Given the description of an element on the screen output the (x, y) to click on. 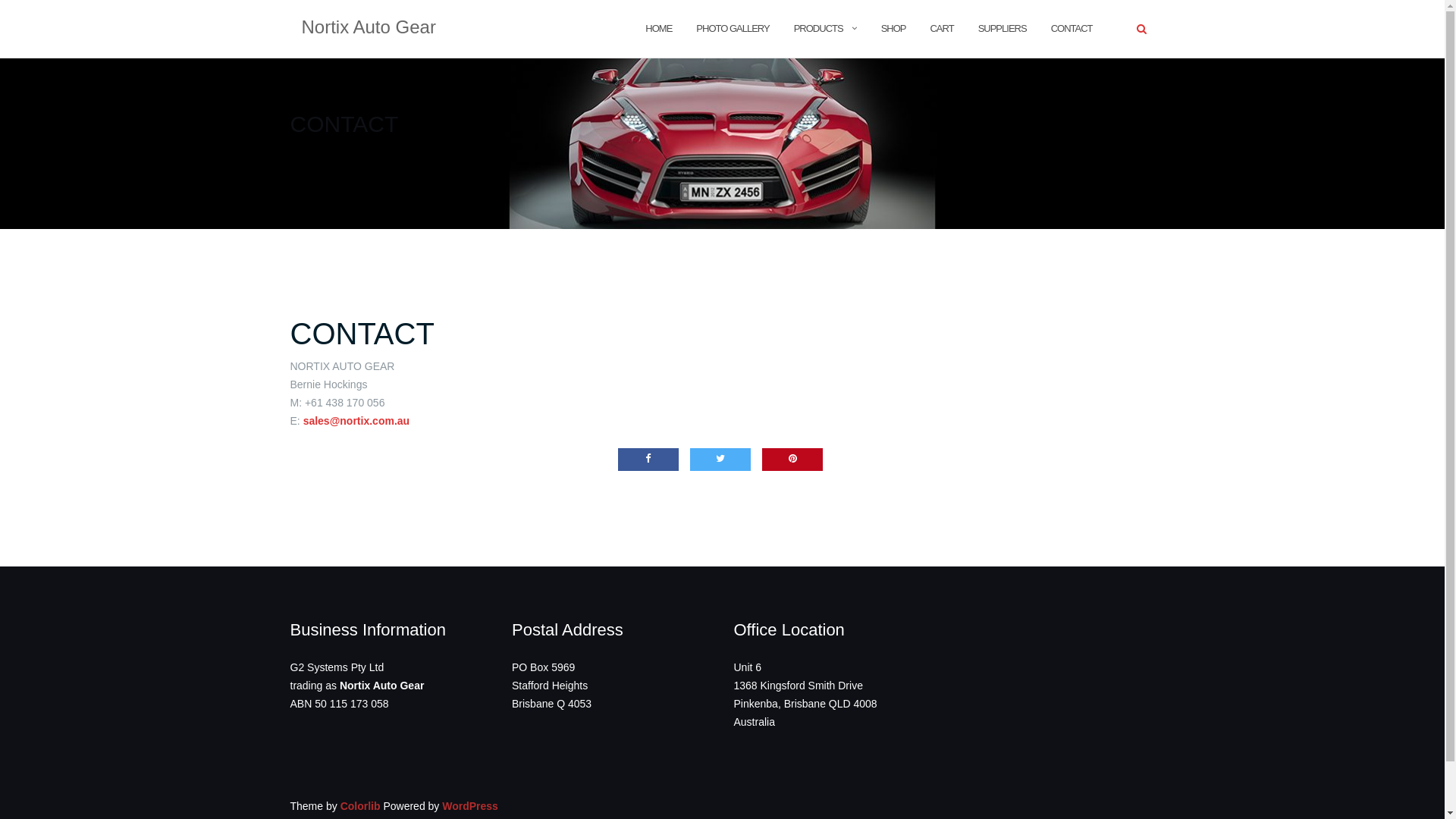
SHOP Element type: text (893, 28)
PRODUCTS Element type: text (818, 28)
HOME Element type: text (658, 28)
PHOTO GALLERY Element type: text (732, 28)
WordPress Element type: text (470, 806)
Colorlib Element type: text (360, 806)
CONTACT Element type: text (361, 333)
Nortix Auto Gear Element type: text (368, 28)
CONTACT Element type: text (1071, 28)
sales@nortix.com.au Element type: text (356, 420)
Skip to content Element type: text (0, 0)
SUPPLIERS Element type: text (1002, 28)
CART Element type: text (941, 28)
